Given the description of an element on the screen output the (x, y) to click on. 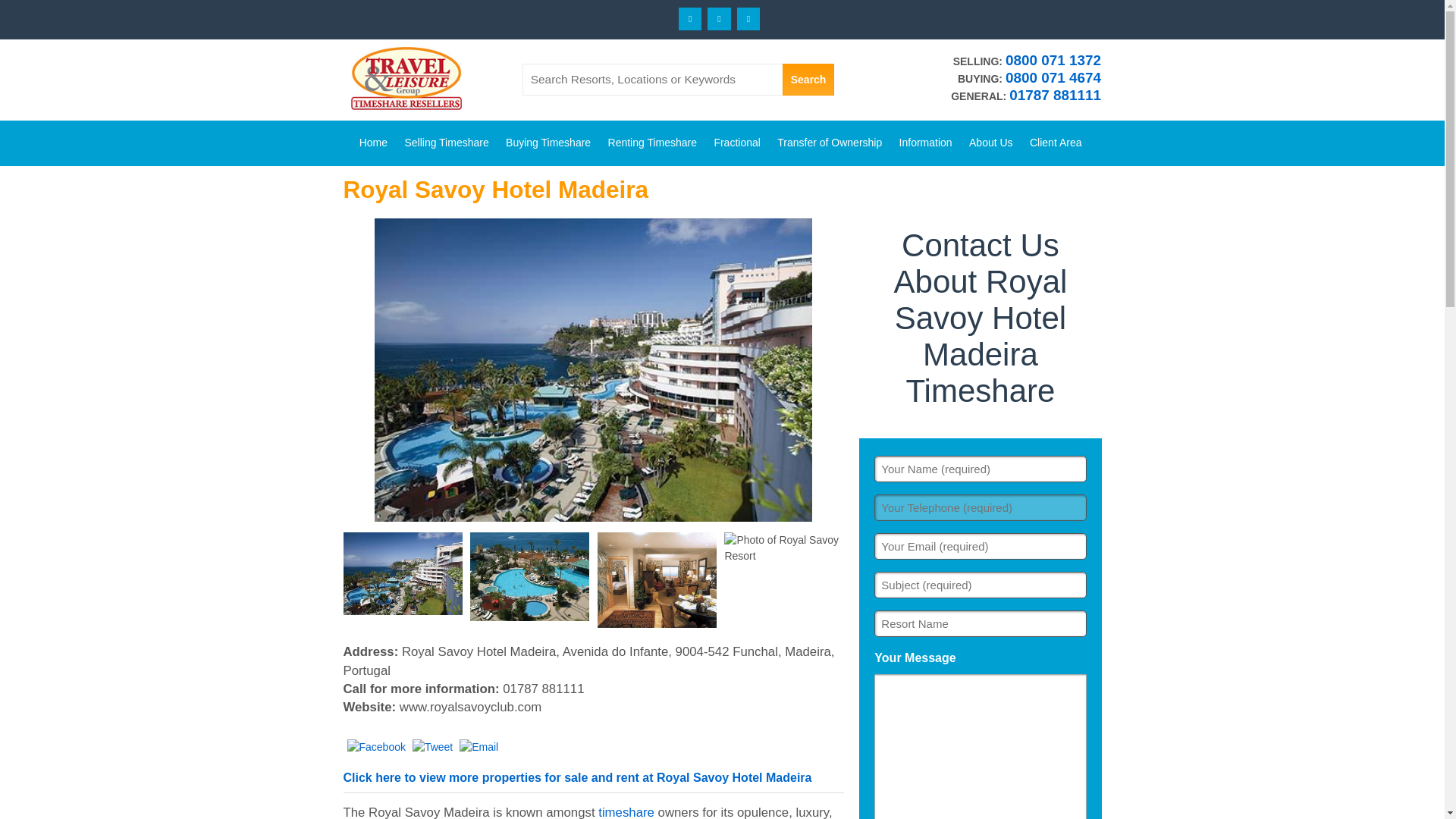
Instagram (748, 18)
Click to enlarge (656, 580)
Click to enlarge (529, 576)
0800 071 4674 (1053, 77)
Home (373, 136)
Buying Timeshare (547, 136)
Resort Image (592, 369)
0800 071 1372 (1053, 59)
Search (808, 79)
Facebook (689, 18)
